Given the description of an element on the screen output the (x, y) to click on. 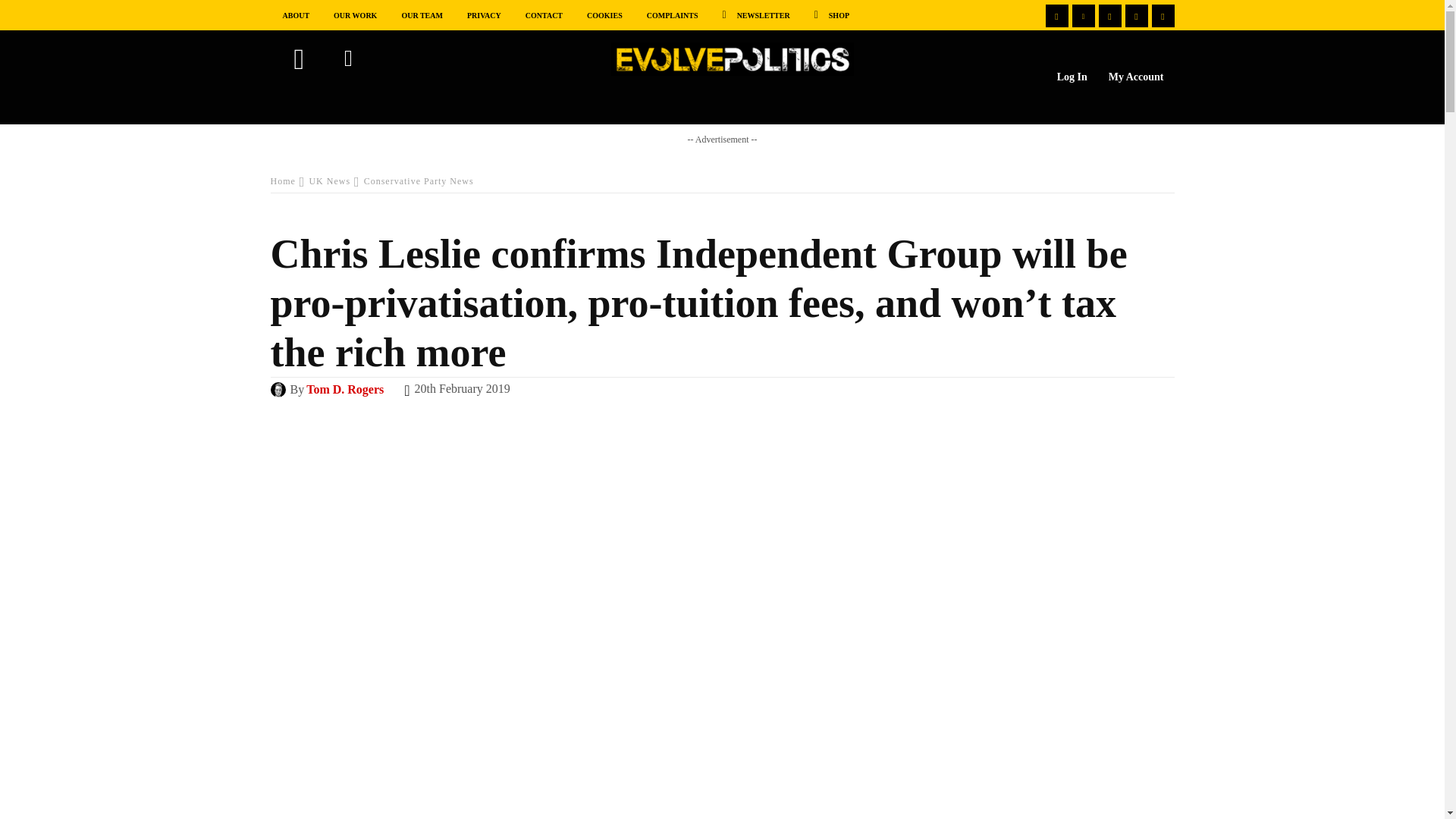
ABOUT (295, 14)
Facebook (1056, 15)
View all posts in UK News (329, 181)
Tiktok (1162, 15)
View all posts in Conservative Party News (419, 181)
Youtube (1109, 15)
Instagram (1136, 15)
Twitter (1082, 15)
